Given the description of an element on the screen output the (x, y) to click on. 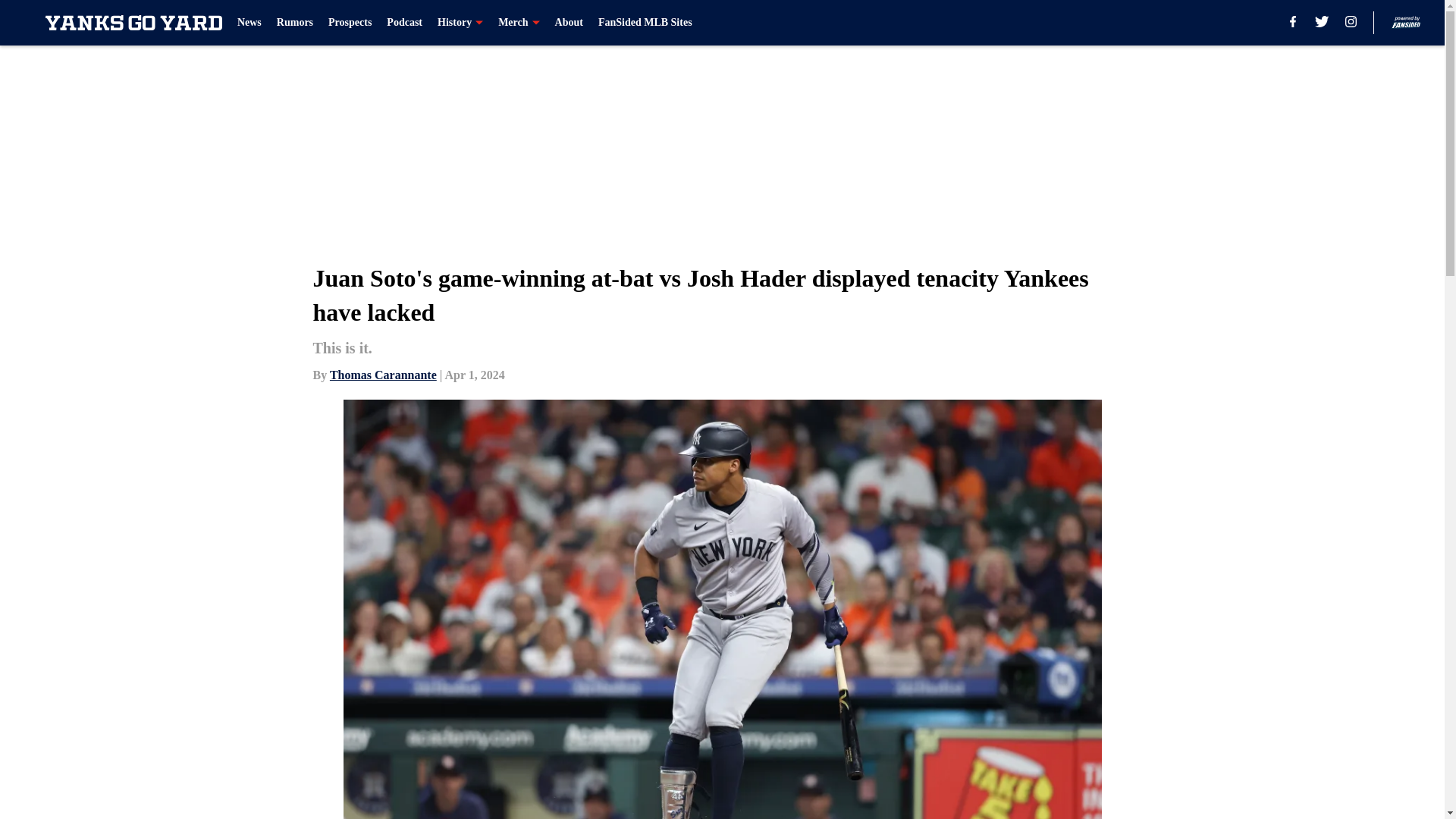
FanSided MLB Sites (645, 22)
News (249, 22)
Podcast (404, 22)
Thomas Carannante (383, 374)
Prospects (350, 22)
Rumors (294, 22)
About (568, 22)
